Given the description of an element on the screen output the (x, y) to click on. 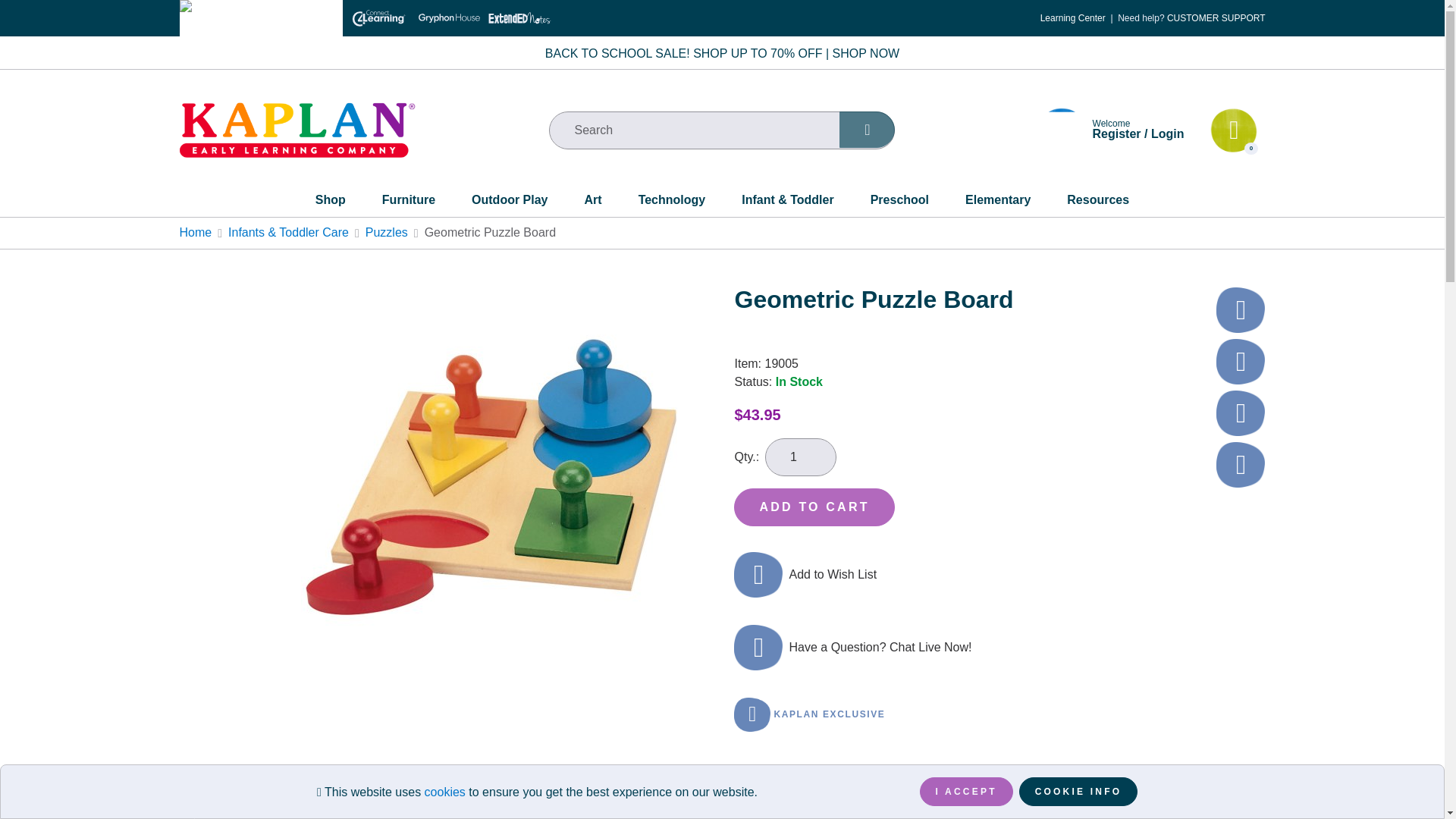
1 (800, 456)
0 (1233, 130)
CUSTOMER SUPPORT (1216, 18)
Shop (330, 203)
Share on Pinterest (1240, 361)
Learning Center (1073, 18)
